Given the description of an element on the screen output the (x, y) to click on. 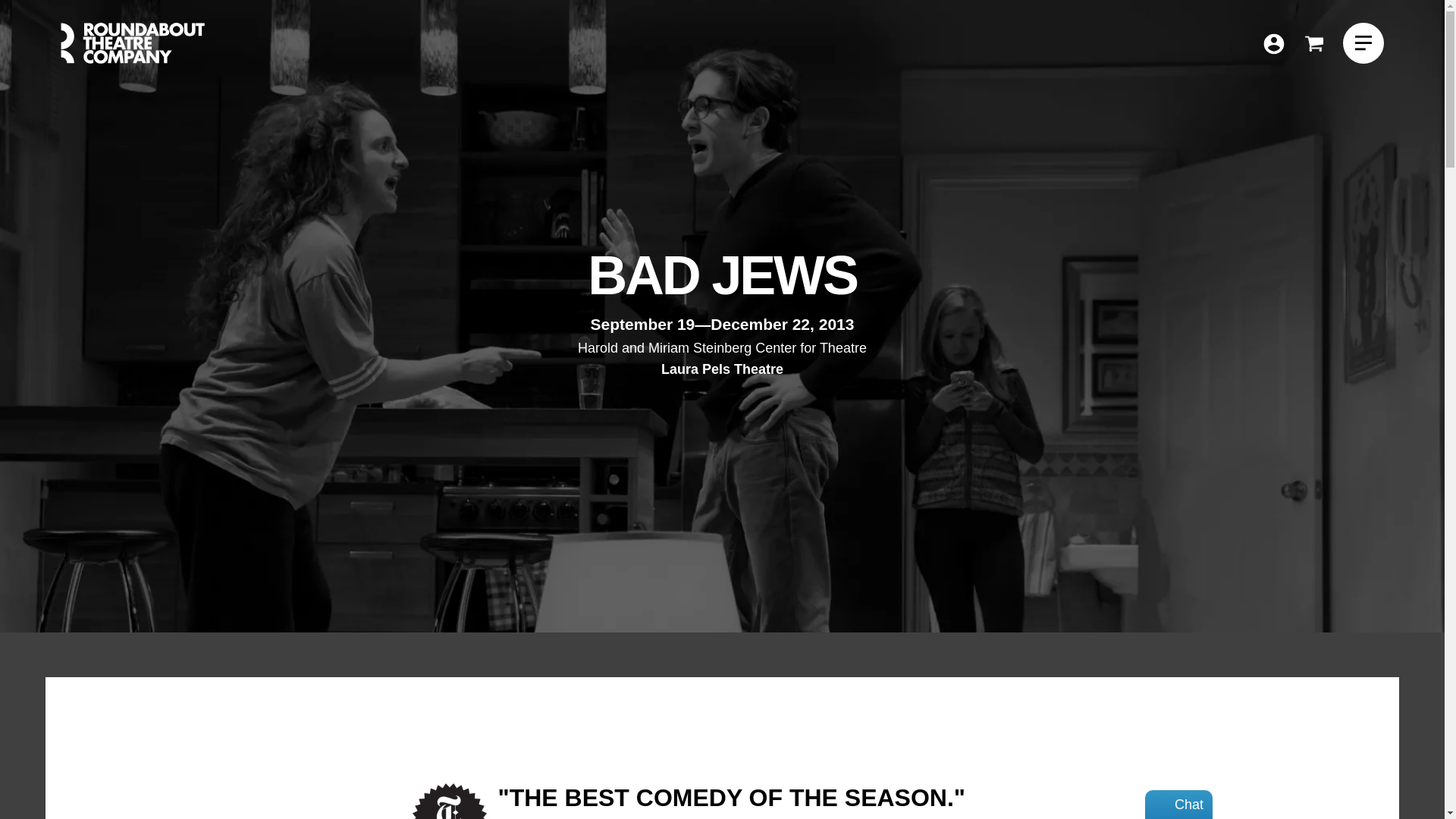
"THE BEST COMEDY OF THE SEASON." (730, 797)
Go to Online Cart Page (1313, 43)
Menu (1363, 42)
Go to Account Page (1313, 43)
